Given the description of an element on the screen output the (x, y) to click on. 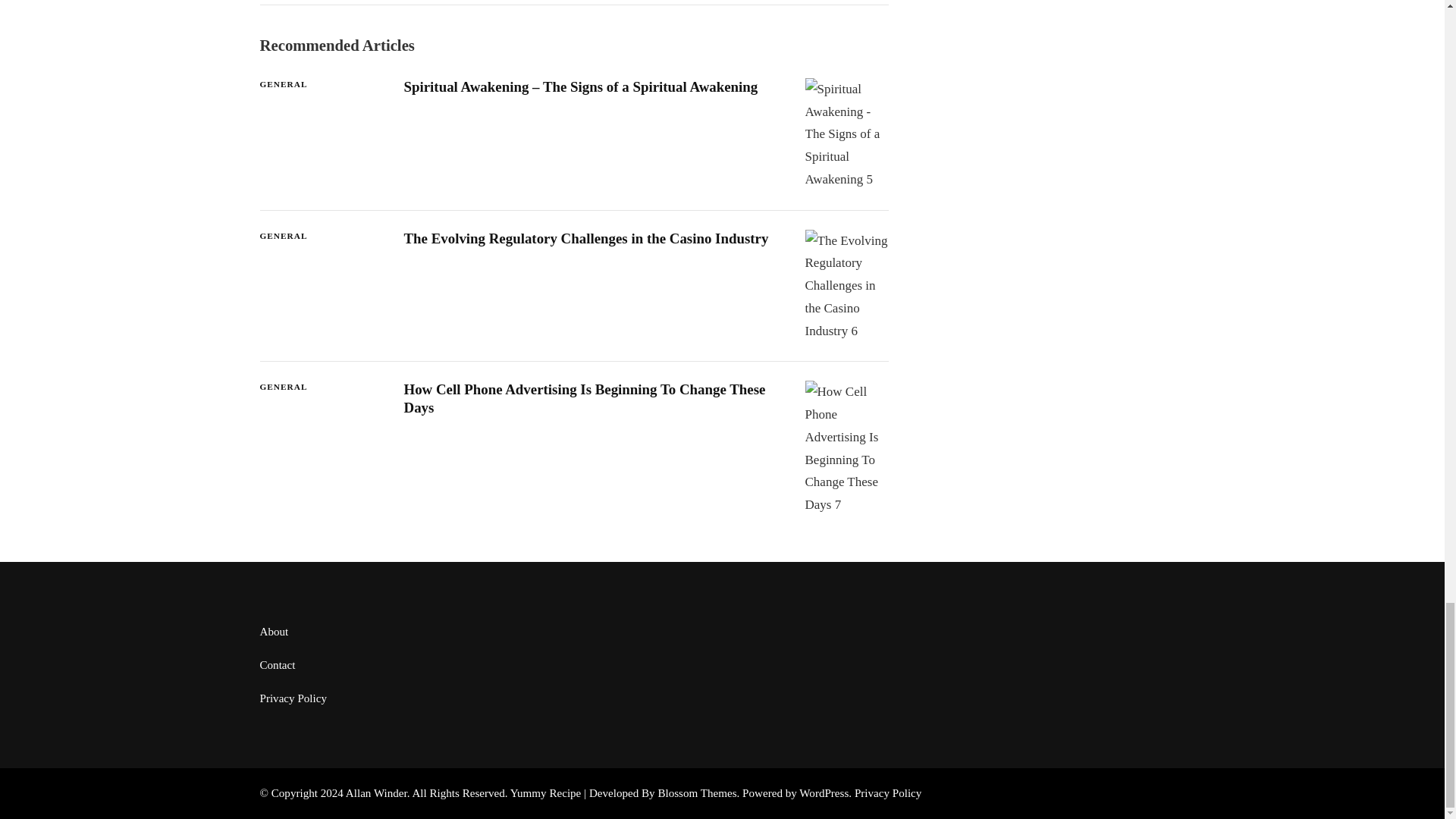
GENERAL (283, 236)
How Cell Phone Advertising Is Beginning To Change These Days (584, 397)
The Evolving Regulatory Challenges in the Casino Industry (585, 238)
GENERAL (283, 386)
GENERAL (283, 83)
